Given the description of an element on the screen output the (x, y) to click on. 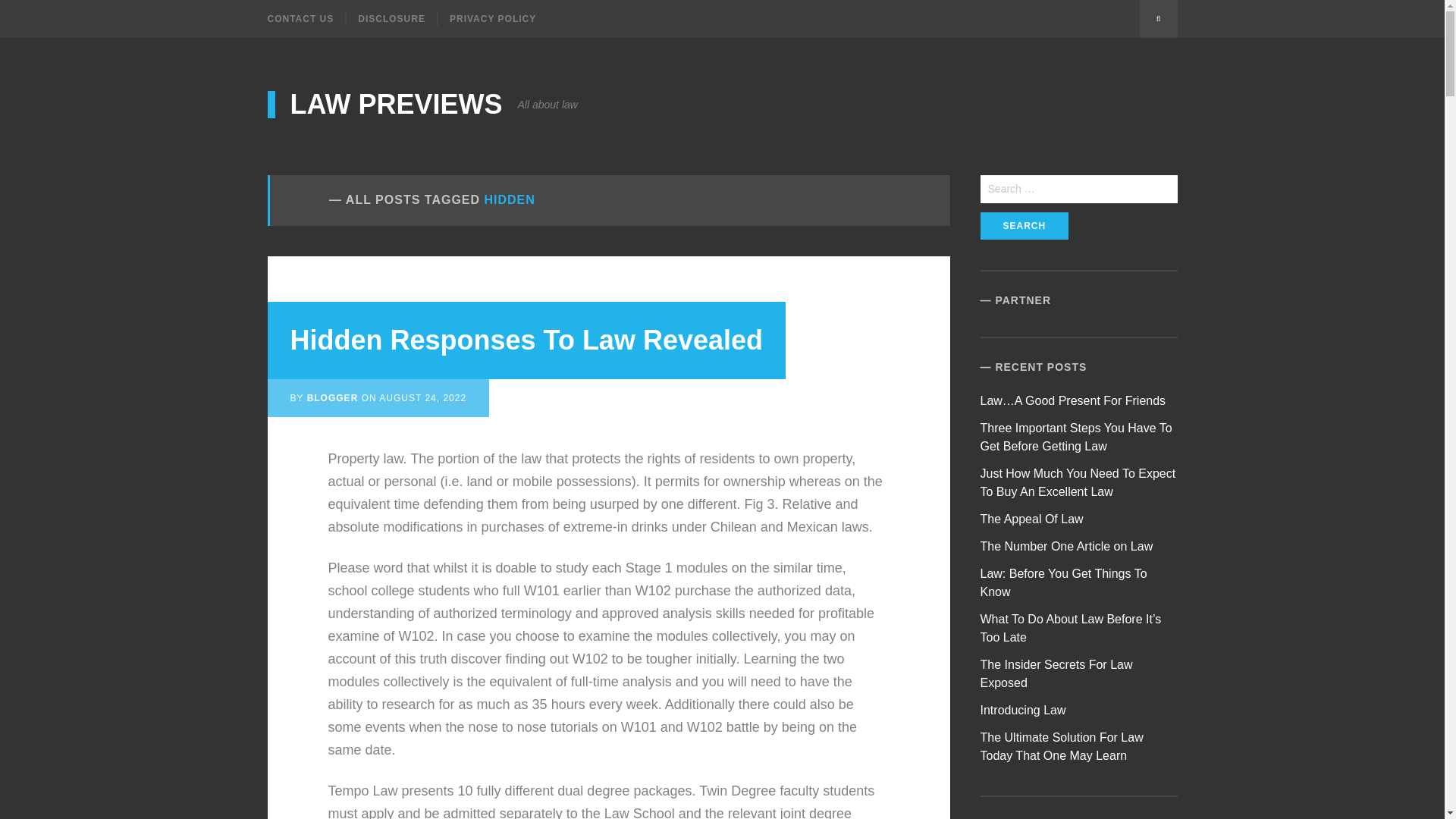
LAW PREVIEWS (384, 103)
Search (1157, 18)
CONTACT US (305, 18)
DISCLOSURE (390, 18)
PRIVACY POLICY (491, 18)
Search (1023, 225)
Three Important Steps You Have To Get Before Getting Law (1075, 436)
Search (1023, 225)
Hidden Responses To Law Revealed (525, 339)
BLOGGER (332, 398)
Just How Much You Need To Expect To Buy An Excellent Law (1077, 481)
Search (1023, 225)
